Given the description of an element on the screen output the (x, y) to click on. 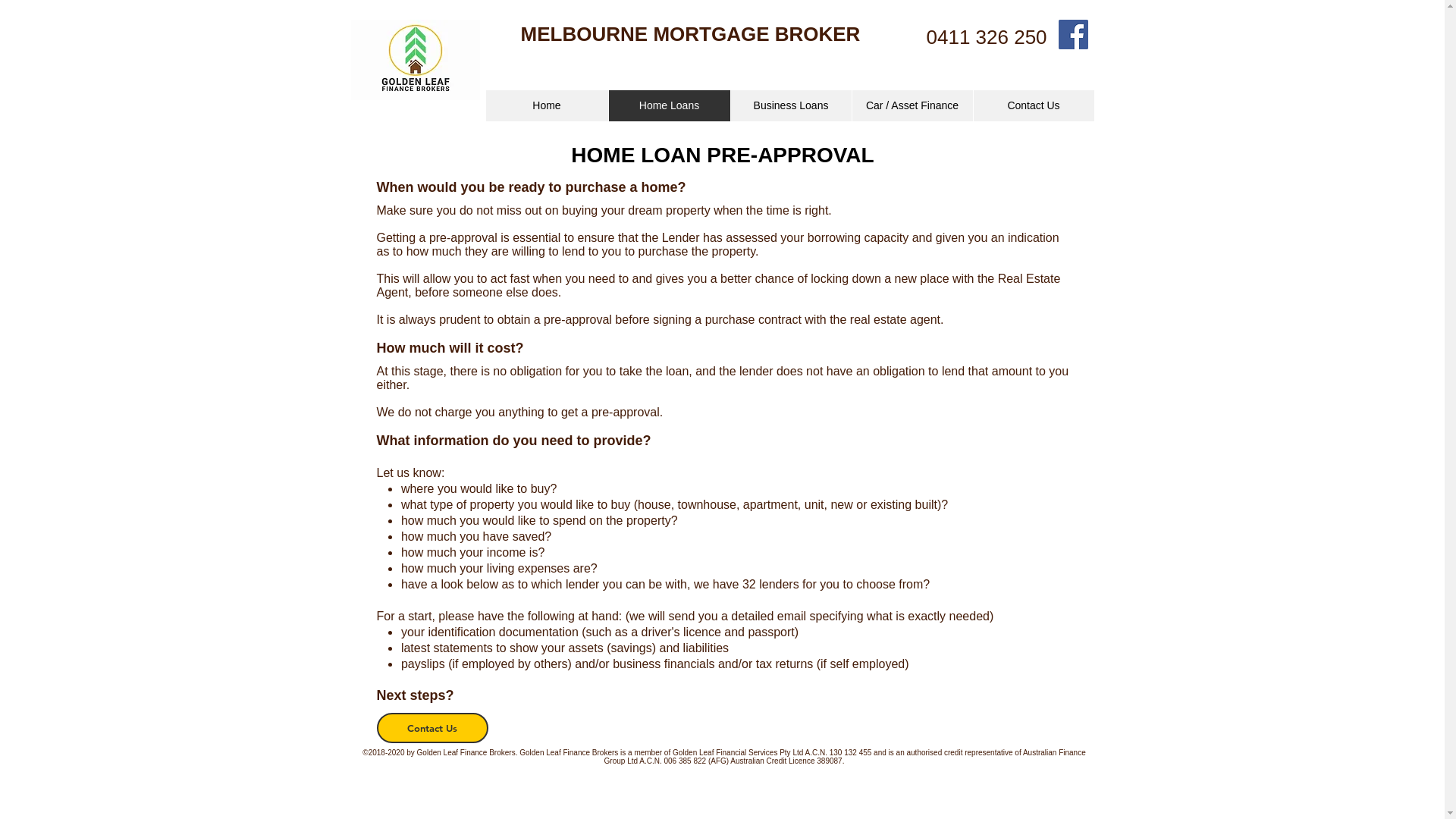
Home Element type: text (546, 105)
Business Loans Element type: text (789, 105)
Car / Asset Finance Element type: text (911, 105)
Contact Us Element type: text (1032, 105)
Home Loans Element type: text (669, 105)
Contact Us Element type: text (431, 727)
